Given the description of an element on the screen output the (x, y) to click on. 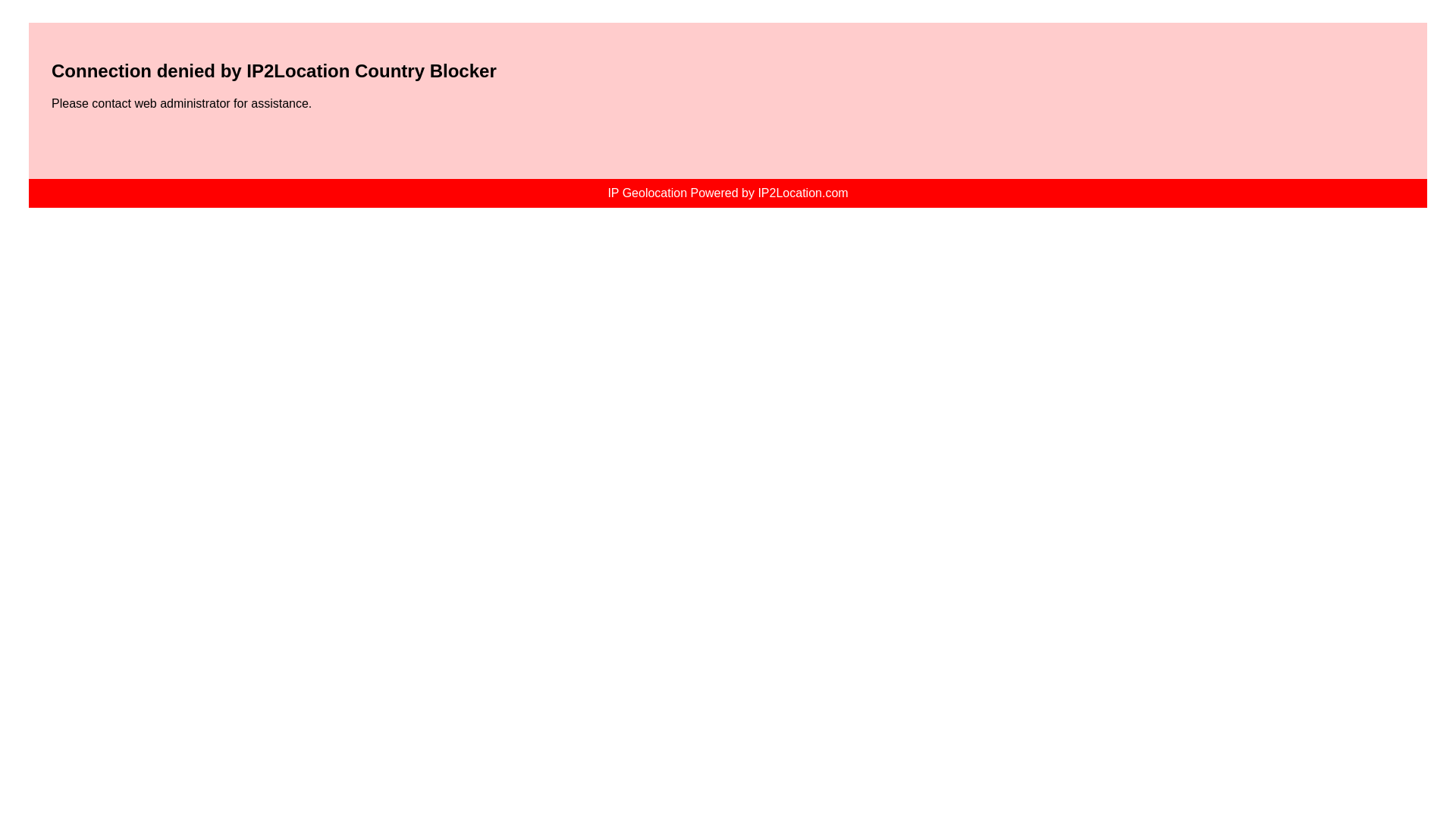
IP Geolocation Powered by IP2Location.com Element type: text (727, 192)
